Given the description of an element on the screen output the (x, y) to click on. 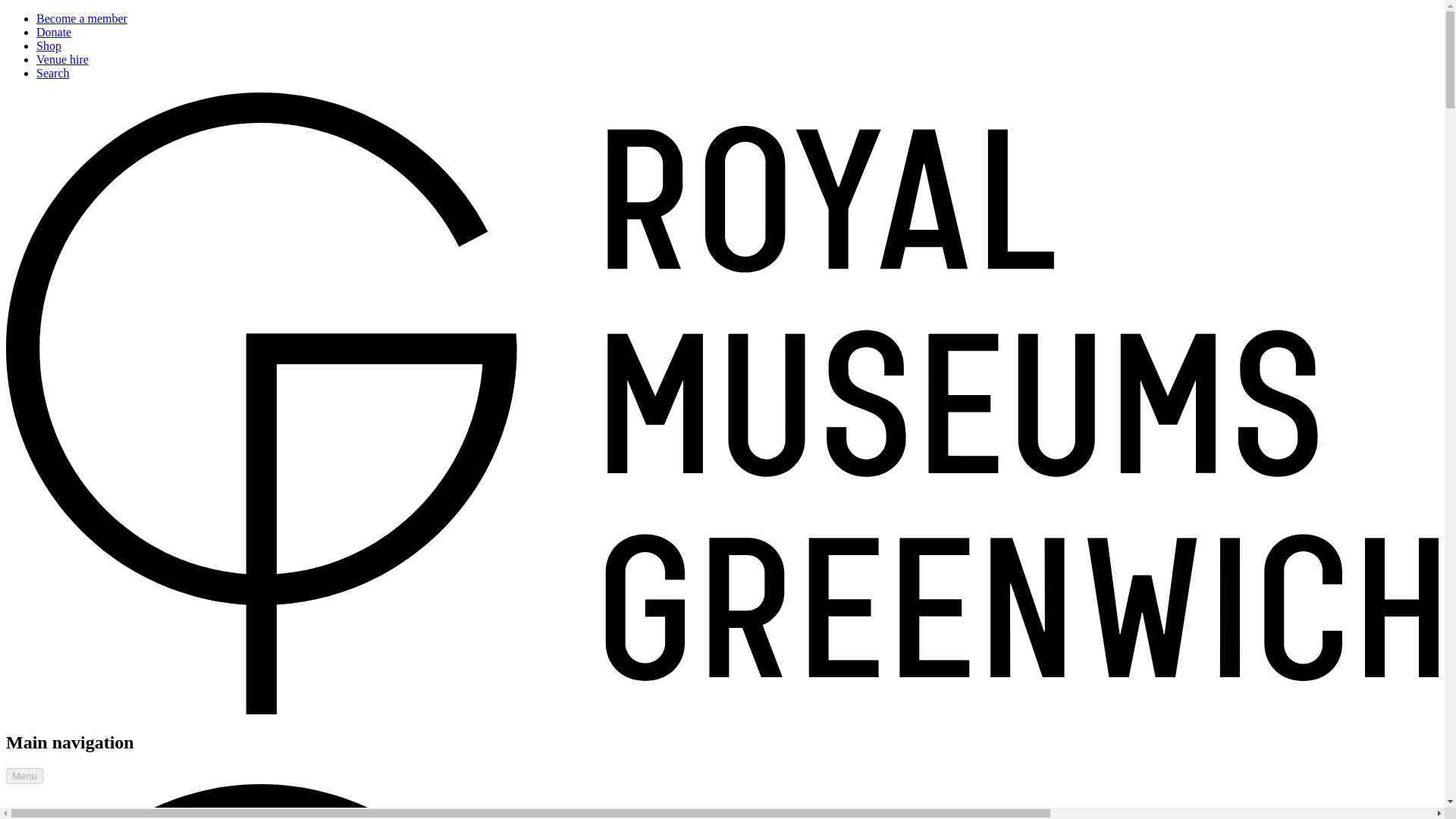
Royal Museums Greenwich (721, 801)
Search (52, 72)
Venue hire (62, 59)
Donate (53, 31)
Become a member (82, 18)
Shop (48, 45)
Menu (24, 775)
